Given the description of an element on the screen output the (x, y) to click on. 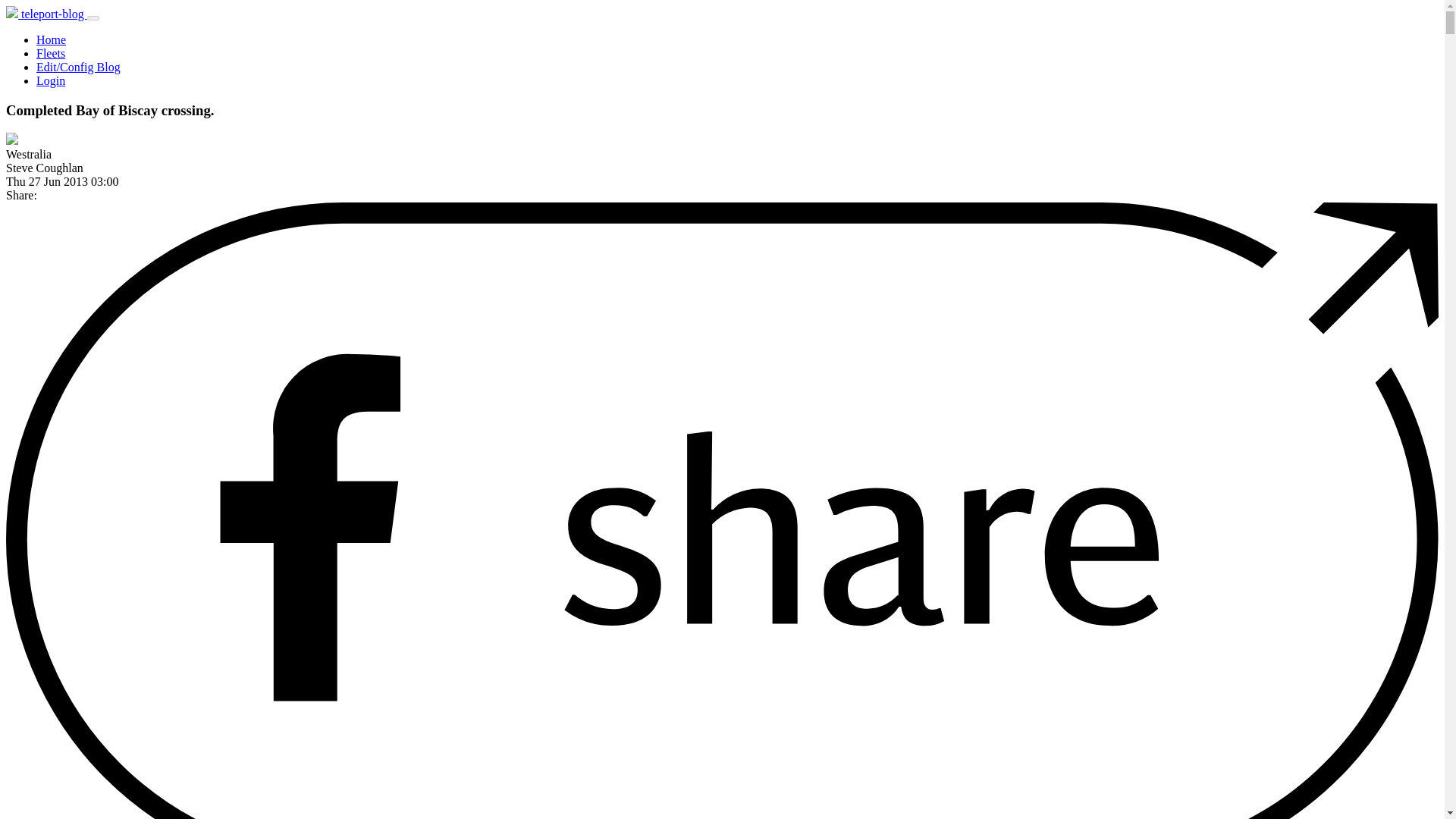
Home (50, 39)
Fleets (50, 52)
teleport-blog (46, 13)
Login (50, 80)
